Given the description of an element on the screen output the (x, y) to click on. 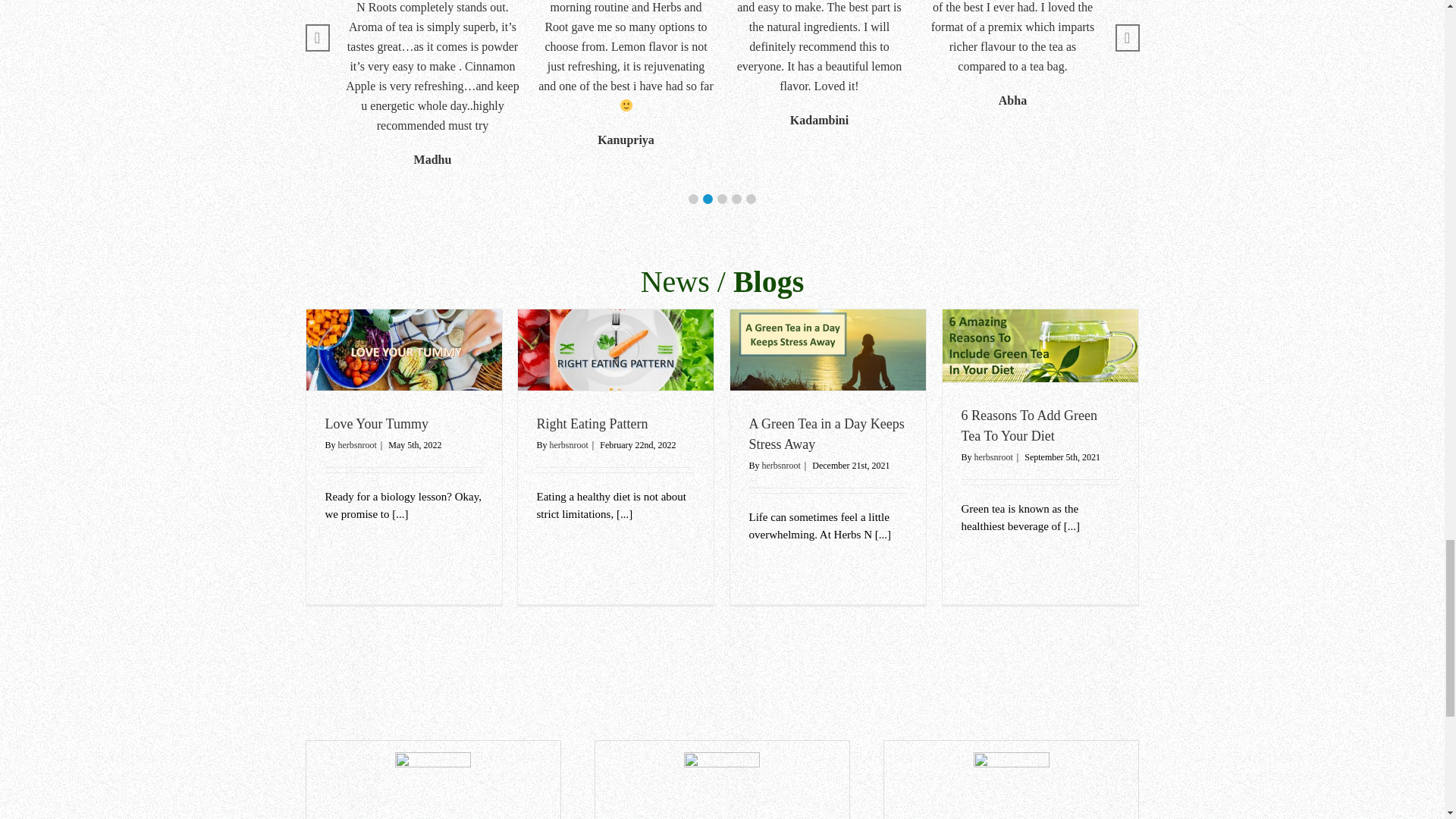
Posts by herbsnroot (569, 444)
Posts by herbsnroot (780, 465)
Posts by herbsnroot (357, 444)
Posts by herbsnroot (993, 457)
